Given the description of an element on the screen output the (x, y) to click on. 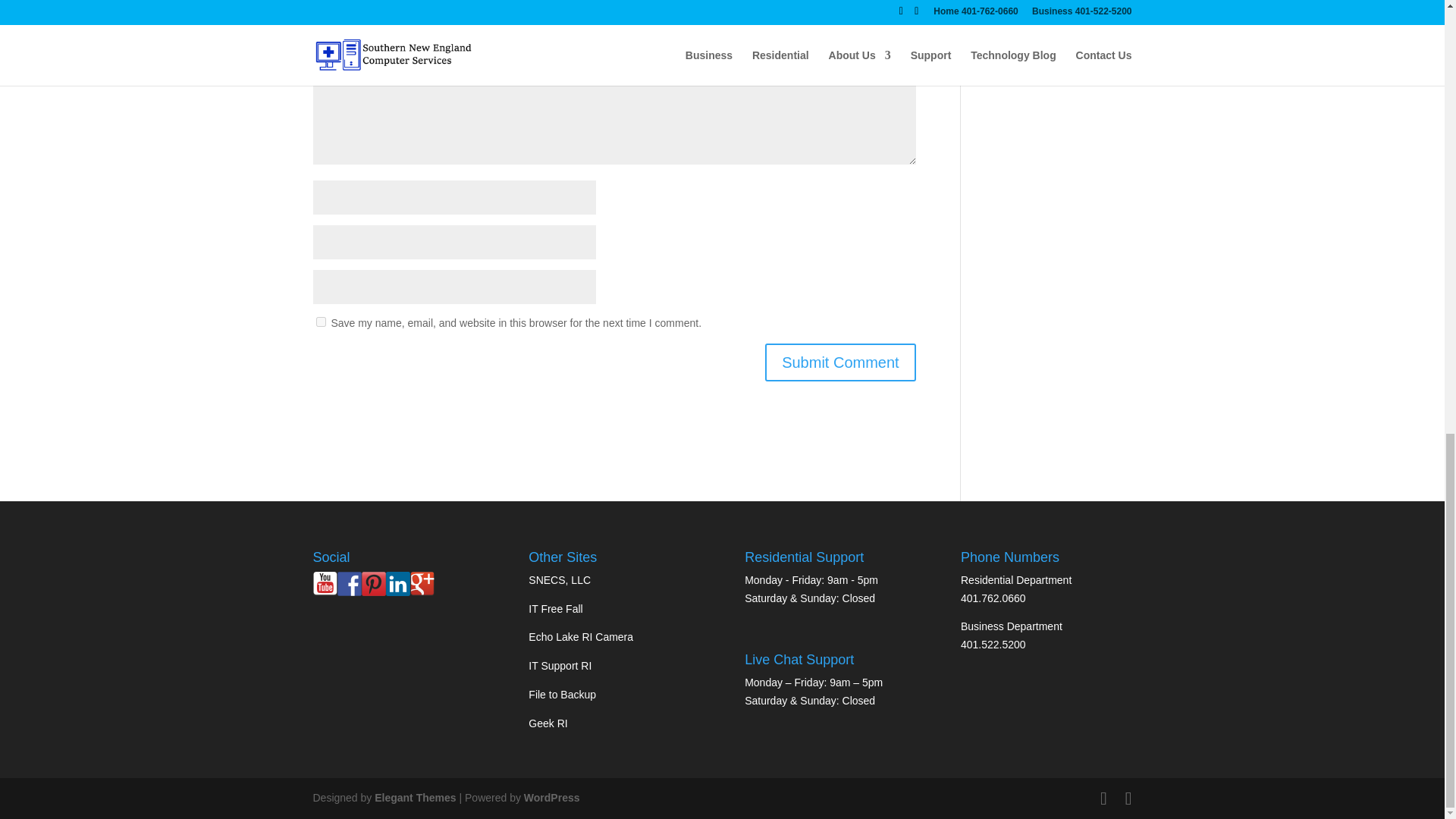
Submit Comment (840, 362)
Echo Lake RI Camera (580, 636)
IT Free Fall (555, 608)
Submit Comment (840, 362)
yes (319, 321)
SNECS, LLC (559, 580)
Premium WordPress Themes (414, 797)
IT Support RI (559, 665)
File to Backup (561, 694)
